Given the description of an element on the screen output the (x, y) to click on. 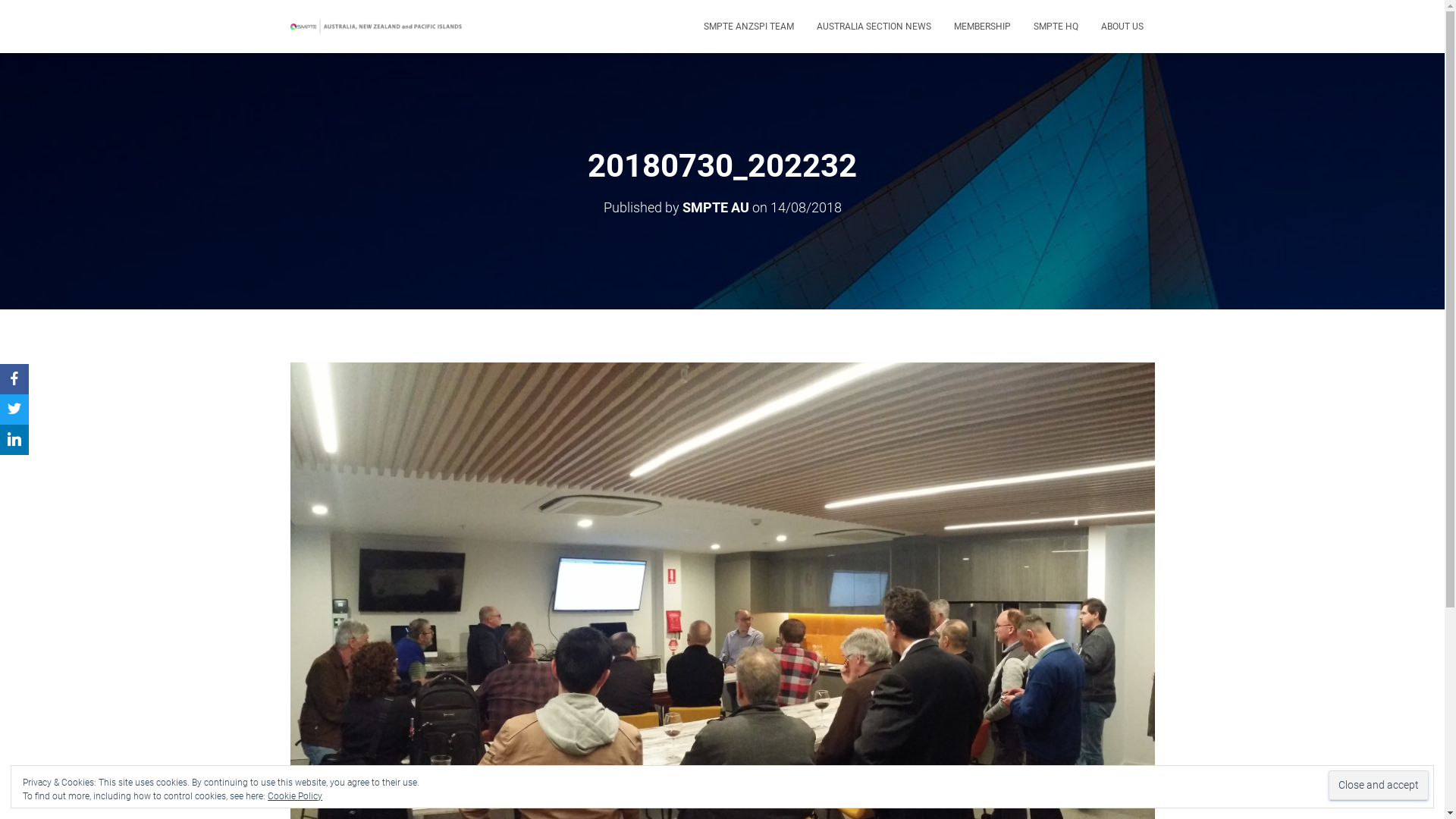
ABOUT US Element type: text (1121, 26)
Close and accept Element type: text (1378, 785)
SMPTE HQ Element type: text (1055, 26)
smpte.org.au Element type: hover (379, 25)
SMPTE AU Element type: text (715, 207)
MEMBERSHIP Element type: text (981, 26)
SMPTE ANZSPI TEAM Element type: text (747, 26)
Cookie Policy Element type: text (294, 795)
AUSTRALIA SECTION NEWS Element type: text (873, 26)
20180730_202232 Element type: hover (721, 645)
